Given the description of an element on the screen output the (x, y) to click on. 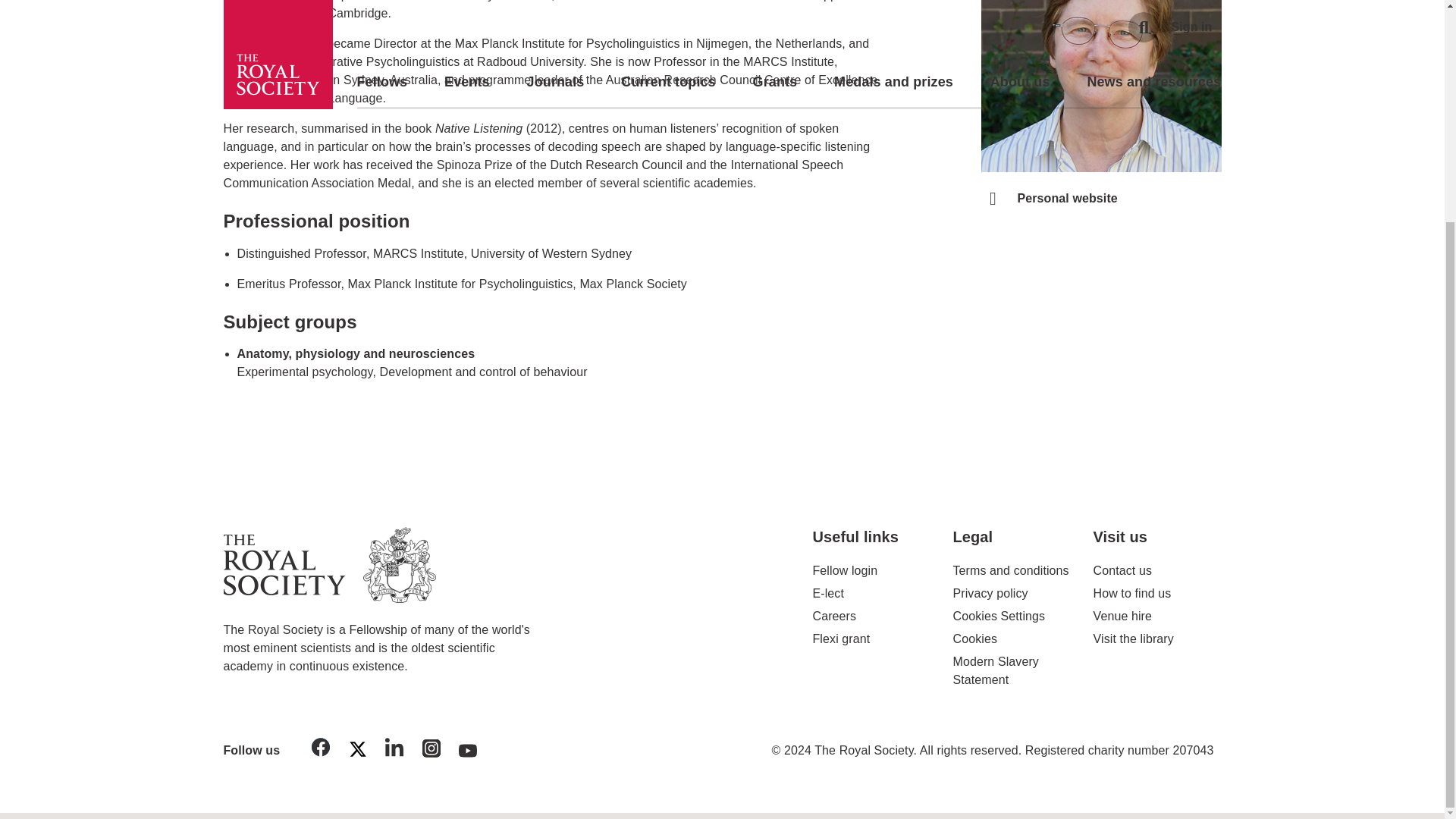
Twitter (357, 752)
Facebook (320, 750)
LinkedIn (393, 750)
YouTube (467, 753)
Instagram (431, 751)
